Given the description of an element on the screen output the (x, y) to click on. 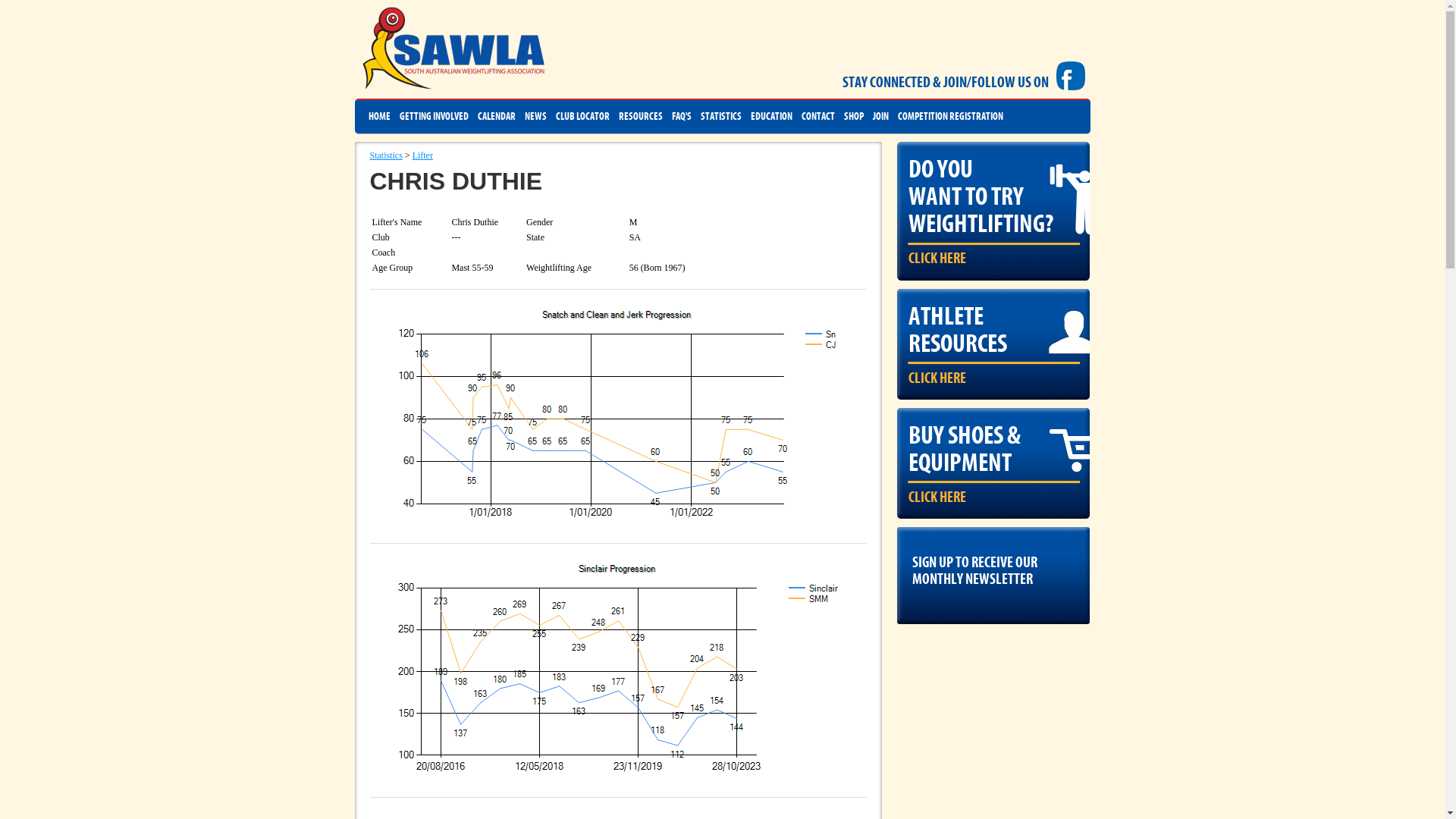
HOME Element type: text (379, 116)
NEWS Element type: text (535, 116)
CLICK HERE Element type: text (937, 497)
CALENDAR Element type: text (496, 116)
FAQ'S Element type: text (681, 116)
CLICK HERE Element type: text (937, 258)
COMPETITION REGISTRATION Element type: text (950, 116)
STATISTICS Element type: text (720, 116)
EDUCATION Element type: text (771, 116)
JOIN Element type: text (880, 116)
Lifter Element type: text (422, 155)
SHOP Element type: text (852, 116)
RESOURCES Element type: text (640, 116)
CLUB LOCATOR Element type: text (581, 116)
CONTACT Element type: text (817, 116)
Statistics Element type: text (386, 155)
CLICK HERE Element type: text (937, 378)
SIGN UP TO RECEIVE OUR MONTHLY NEWSLETTER Element type: text (992, 567)
